Given the description of an element on the screen output the (x, y) to click on. 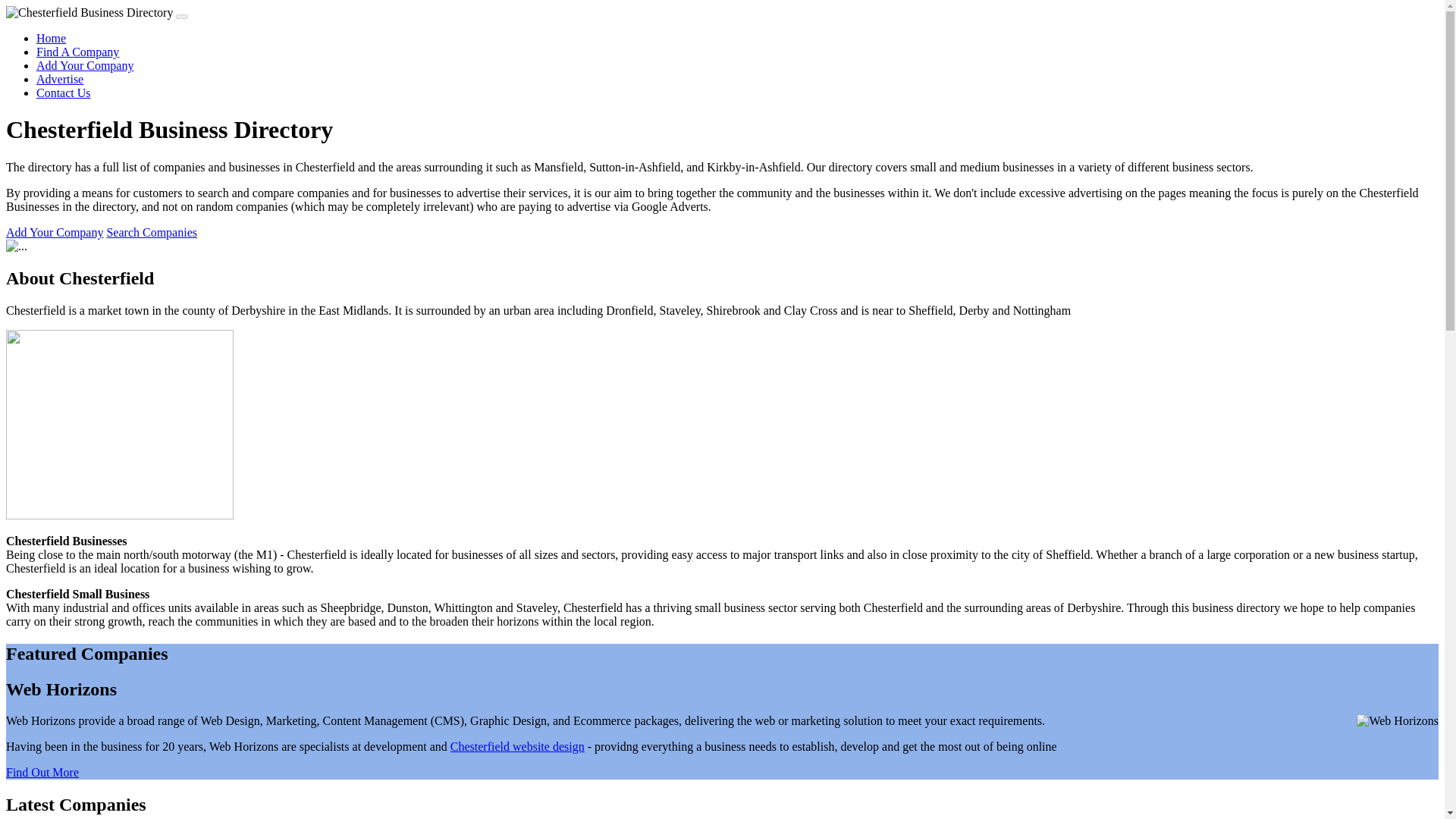
Advertise (59, 78)
Search Companies (151, 232)
Find A Company (77, 51)
Find Out More (41, 771)
Home (50, 38)
Add Your Company (54, 232)
Contact Us (63, 92)
Add Your Company (84, 65)
Chesterfield website design (517, 746)
